Given the description of an element on the screen output the (x, y) to click on. 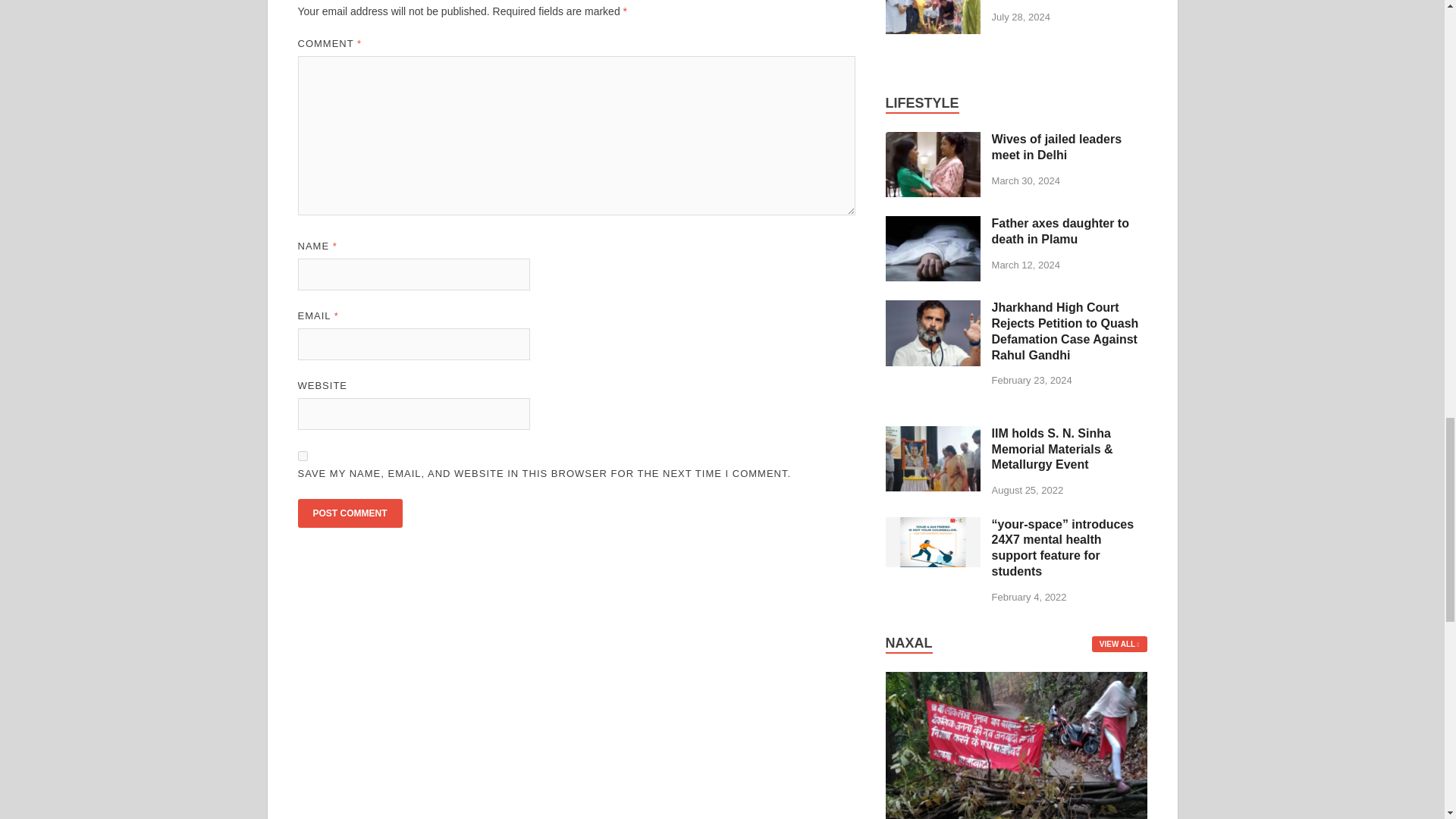
yes (302, 456)
Post Comment (349, 512)
Post Comment (349, 512)
